Given the description of an element on the screen output the (x, y) to click on. 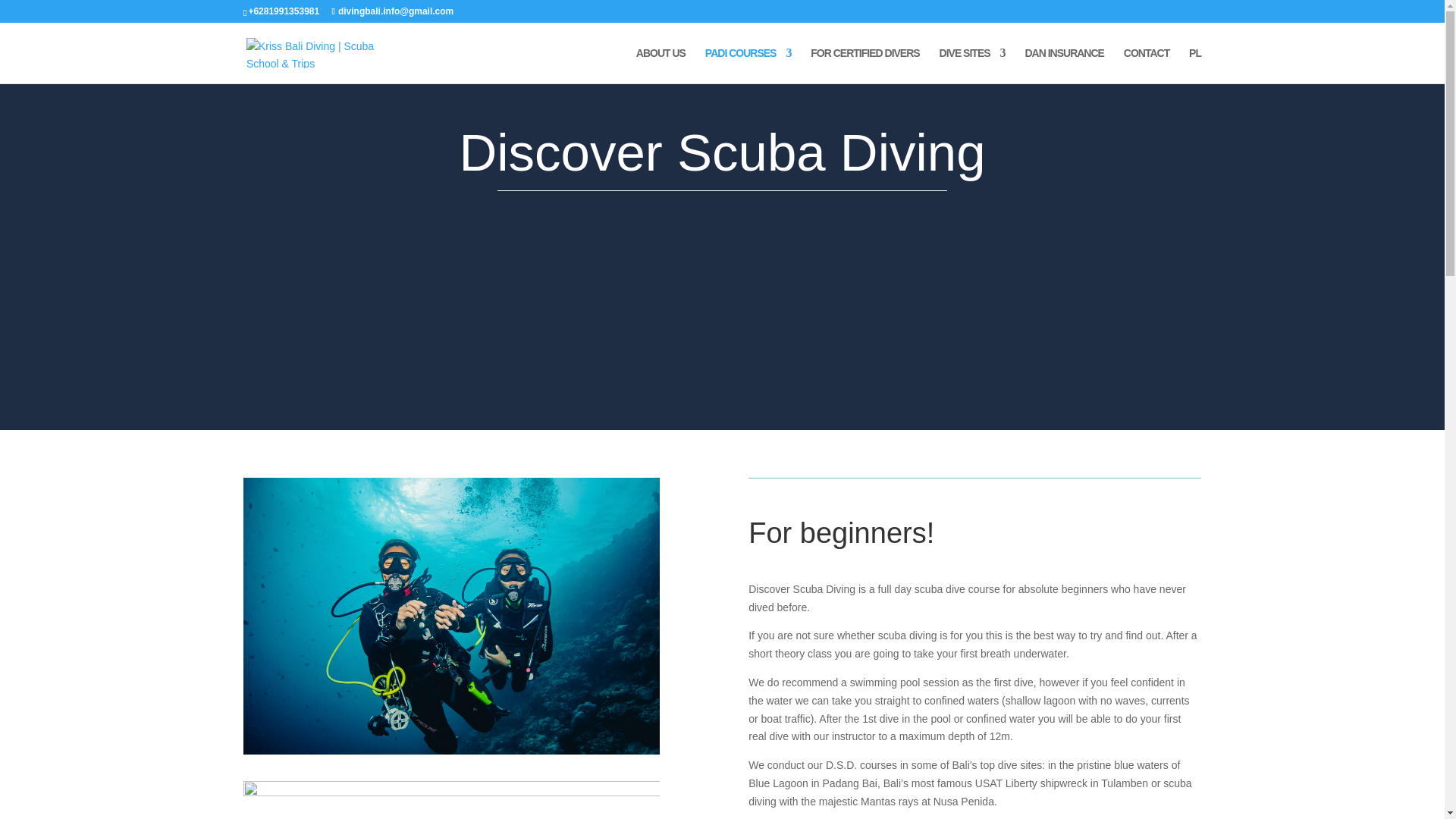
DIVE SITES (972, 65)
PADI COURSES (748, 65)
CONTACT (1146, 65)
DAN INSURANCE (1064, 65)
ABOUT US (660, 65)
DSD (451, 616)
FOR CERTIFIED DIVERS (864, 65)
